Given the description of an element on the screen output the (x, y) to click on. 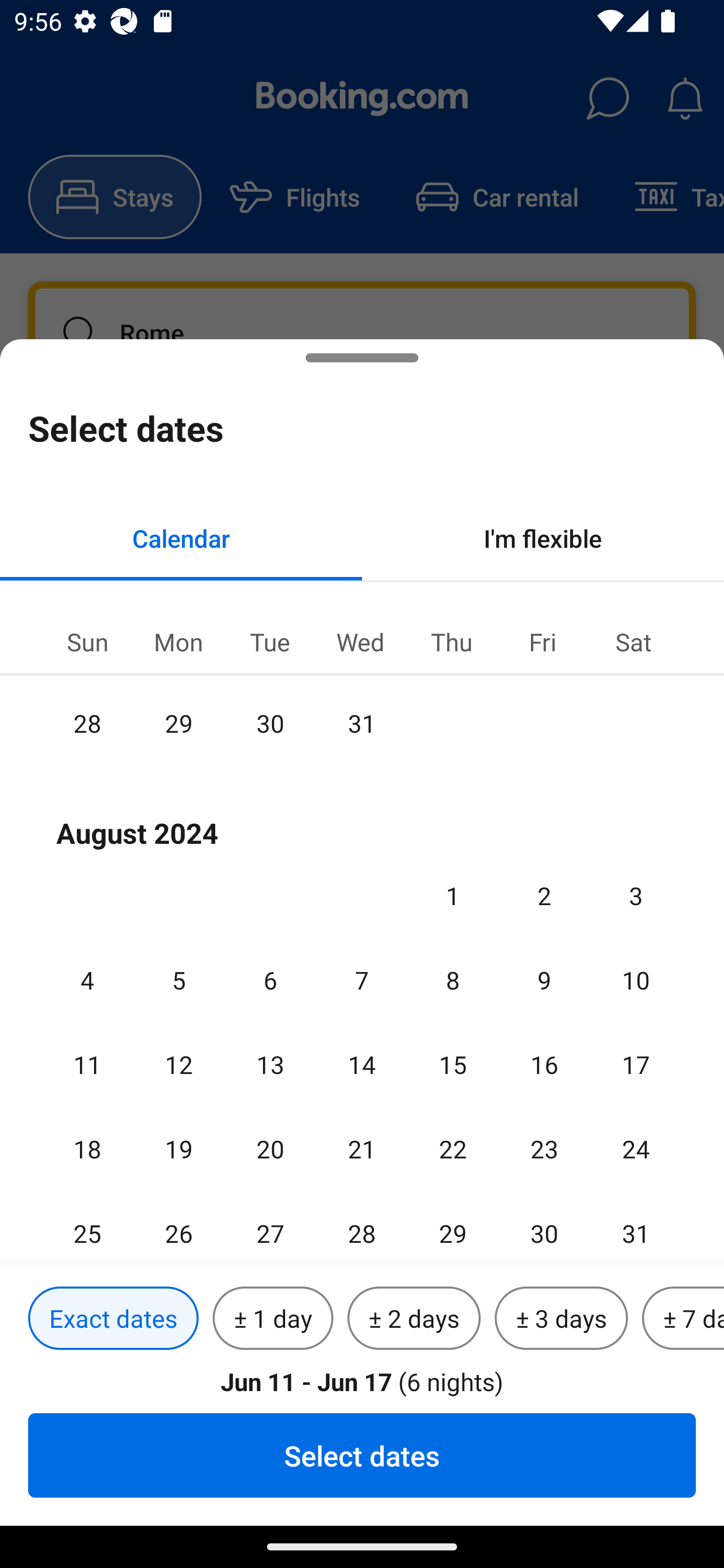
I'm flexible (543, 537)
Exact dates (113, 1318)
± 1 day (272, 1318)
± 2 days (413, 1318)
± 3 days (560, 1318)
± 7 days (683, 1318)
Select dates (361, 1454)
